Given the description of an element on the screen output the (x, y) to click on. 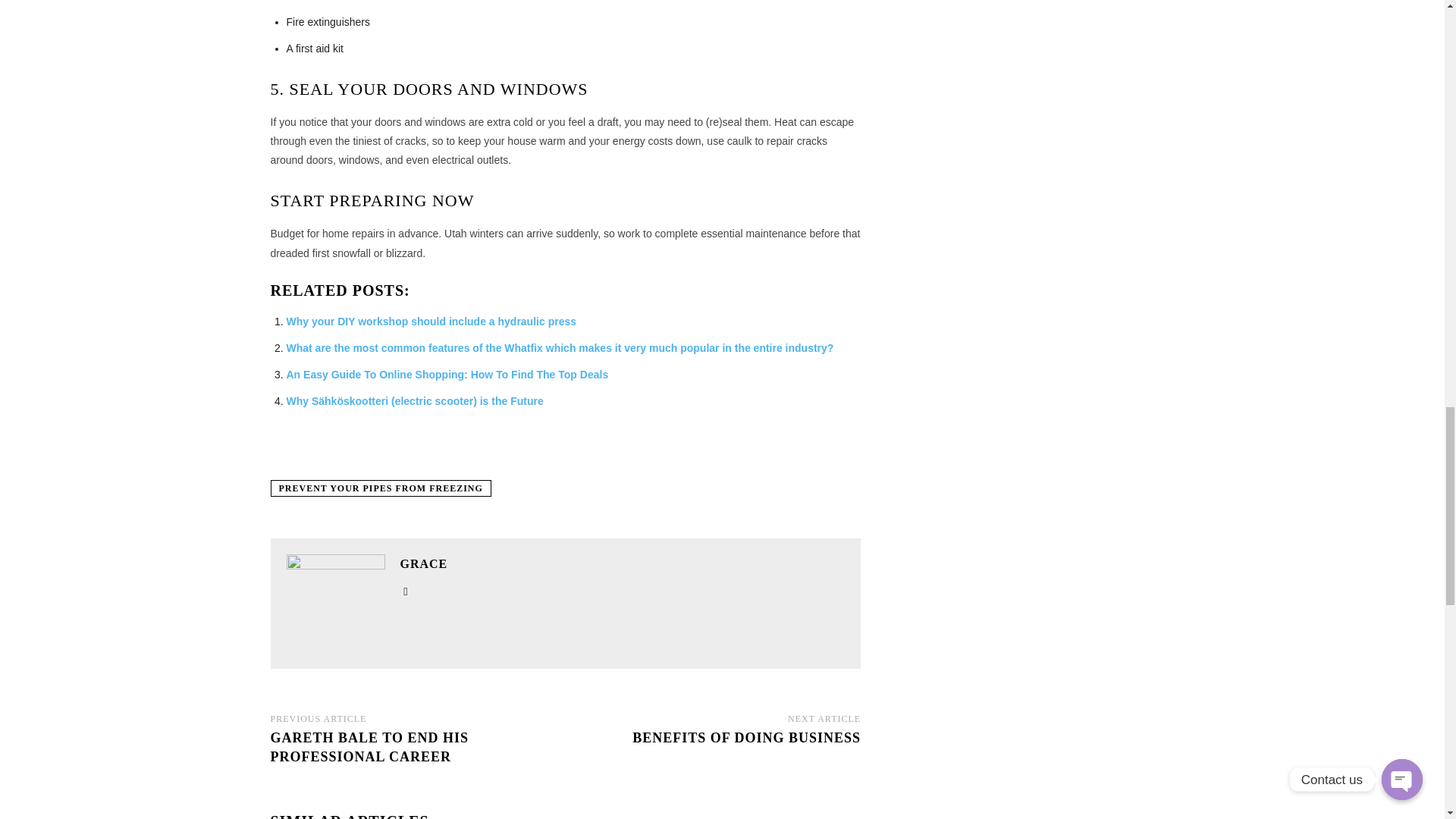
Grace (335, 603)
facebook (406, 588)
An Easy Guide To Online Shopping: How To Find The Top Deals (447, 374)
Why your DIY workshop should include a hydraulic press (431, 321)
